Given the description of an element on the screen output the (x, y) to click on. 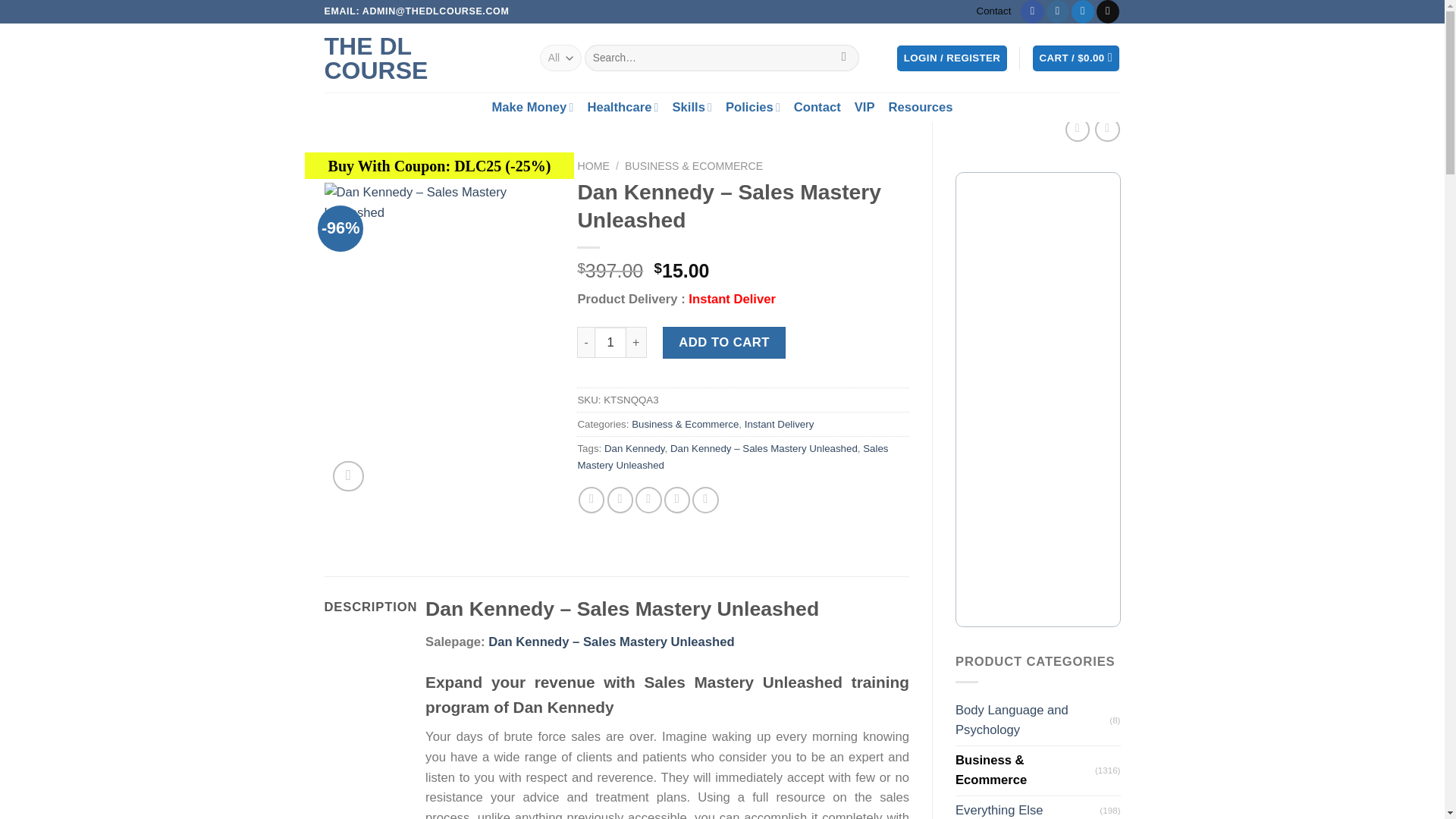
Search (844, 58)
Healthcare (622, 107)
Contact (993, 11)
The DL Course - Download All Courses You Need (420, 58)
Zoom (347, 476)
Contact (817, 107)
Skills (691, 107)
1 (610, 342)
Cart (1075, 58)
Follow on Instagram (1057, 11)
